Given the description of an element on the screen output the (x, y) to click on. 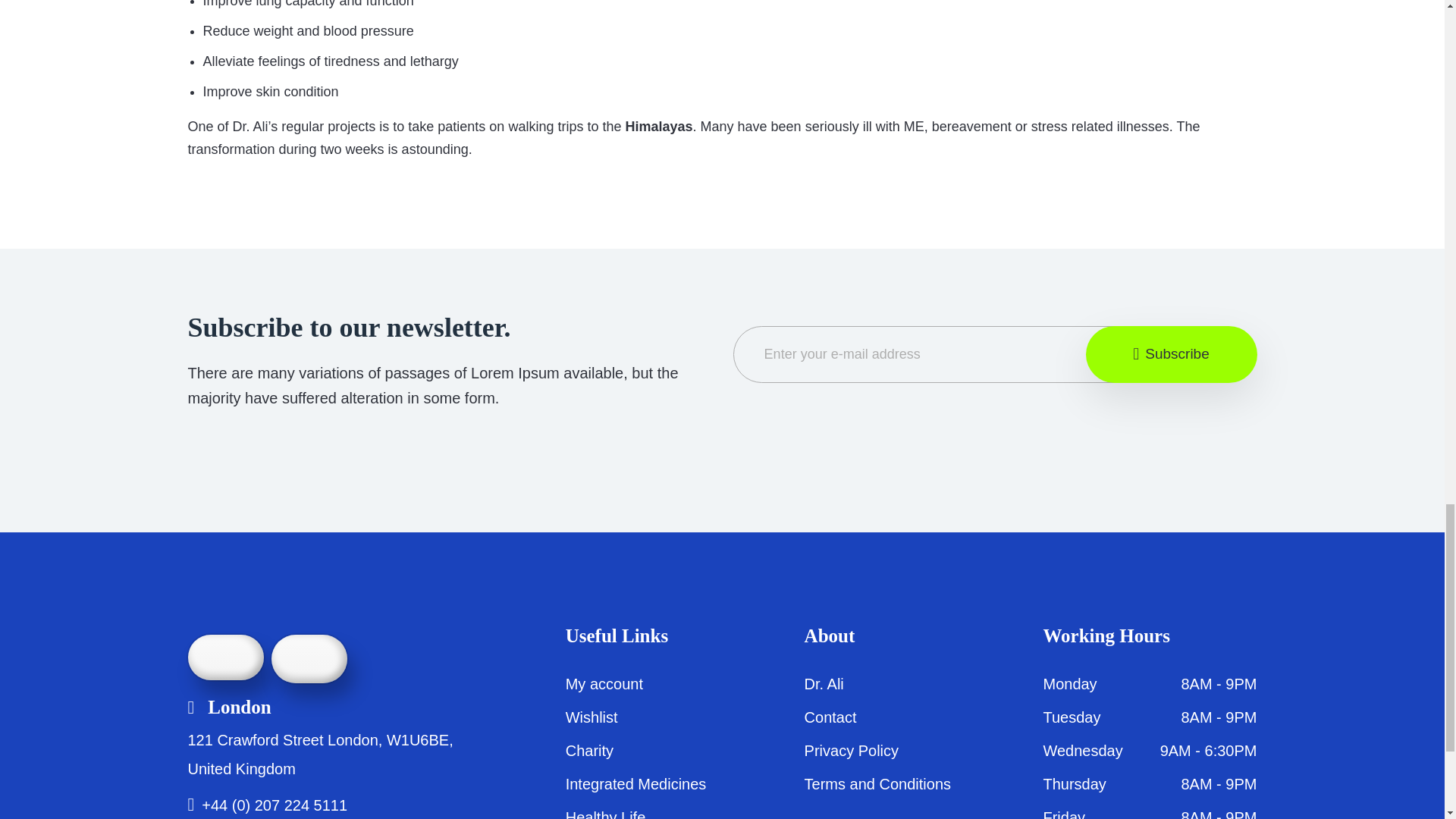
Dr. Ali (824, 683)
Subscribe (1171, 354)
London (228, 706)
Charity (589, 750)
Healthy Life (606, 814)
My account (604, 683)
Contact (831, 717)
Wishlist (591, 717)
Integrated Medicines (636, 783)
121 Crawford Street London, W1U6BE, United Kingdom (319, 754)
